Given the description of an element on the screen output the (x, y) to click on. 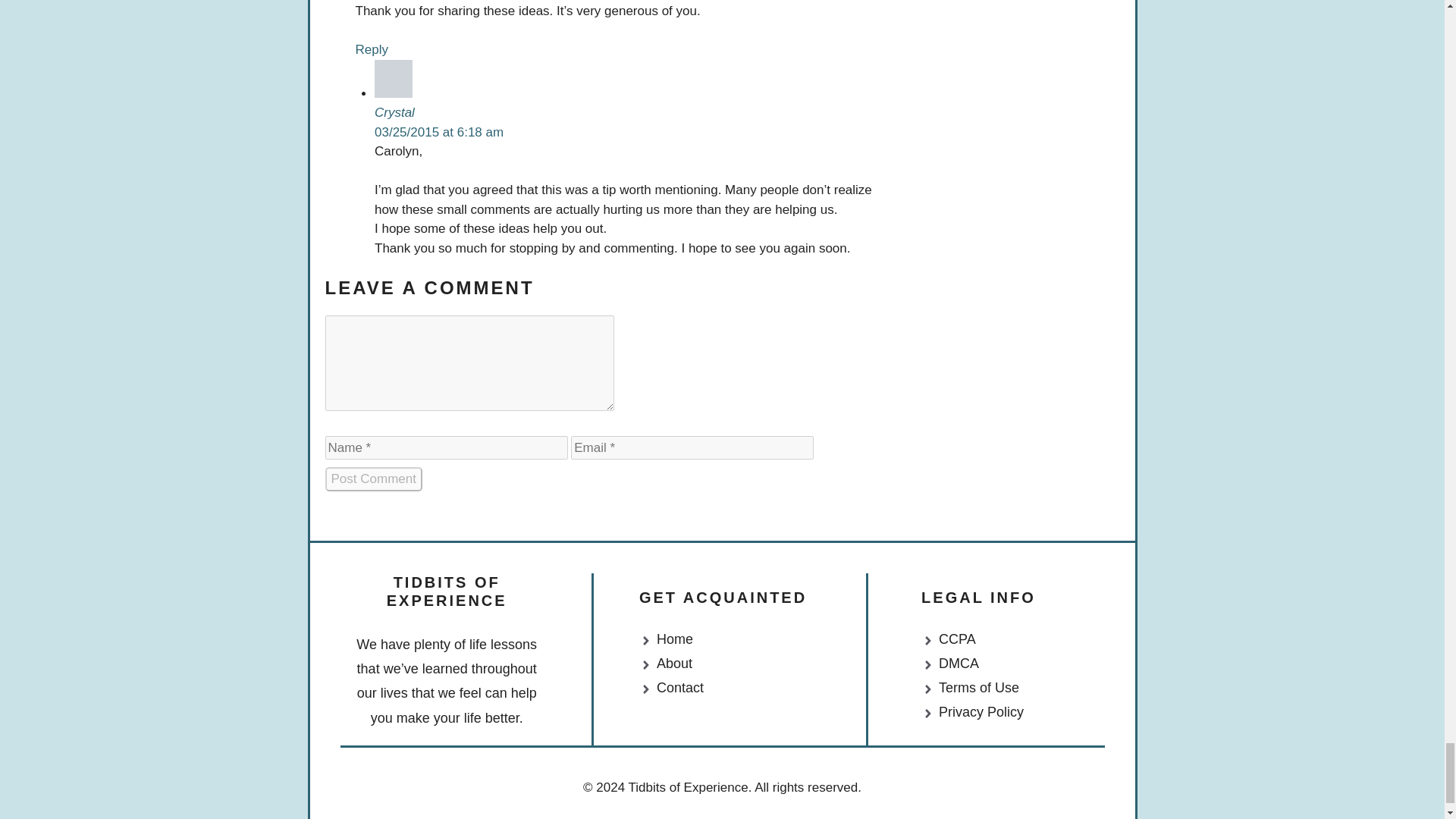
Post Comment (373, 478)
